Given the description of an element on the screen output the (x, y) to click on. 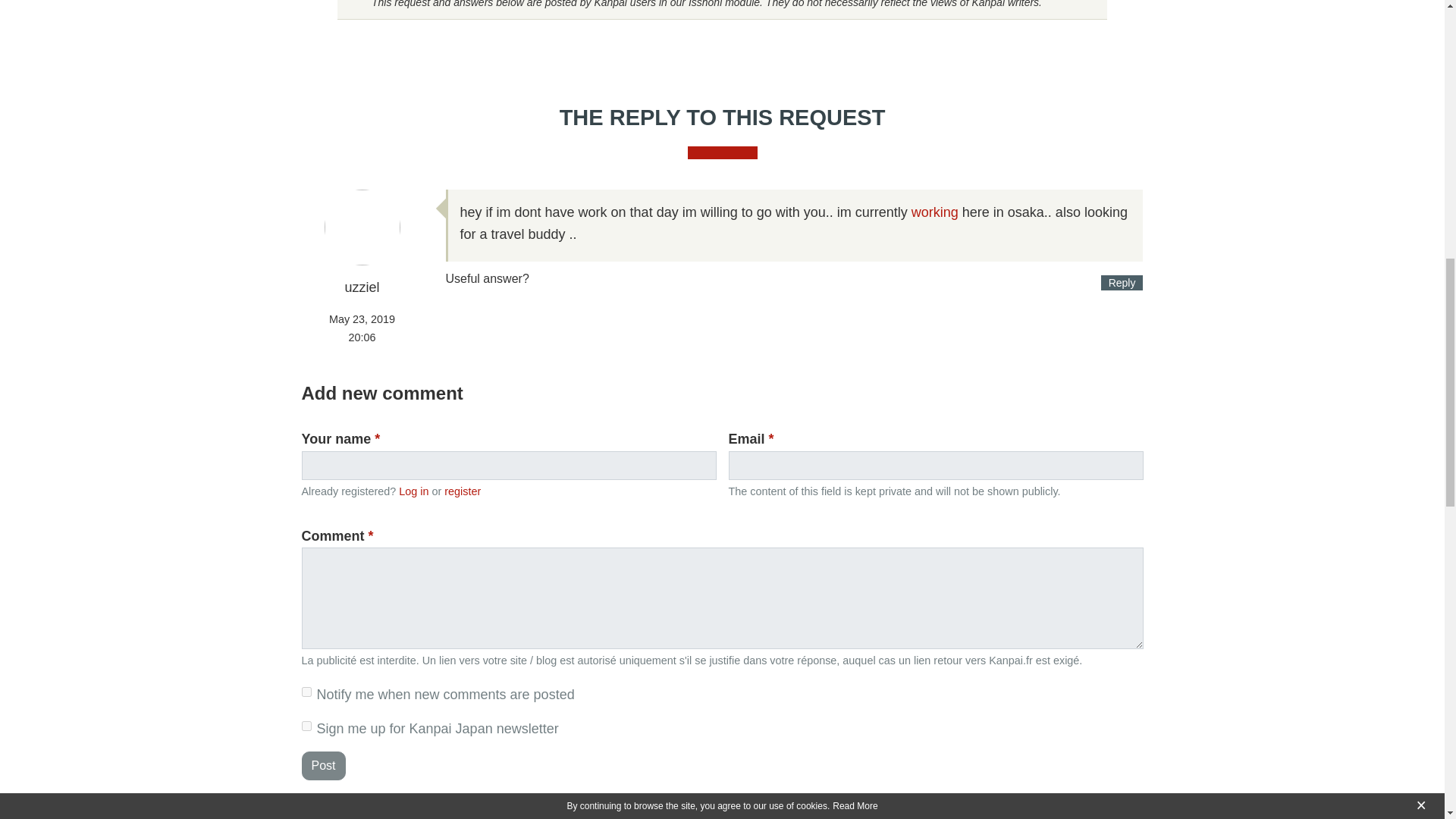
1 (306, 691)
1 (306, 726)
